Given the description of an element on the screen output the (x, y) to click on. 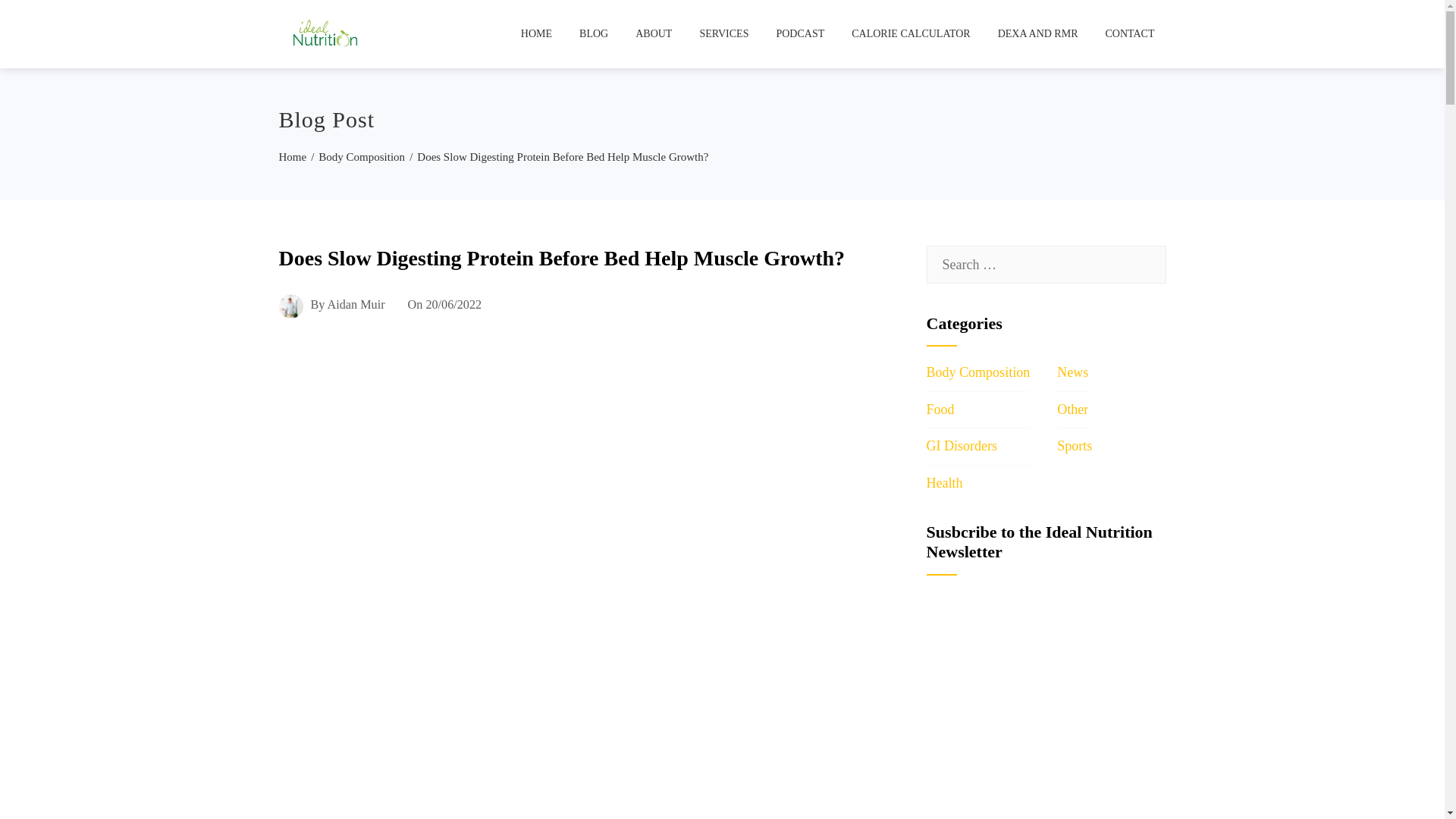
Home (293, 156)
HOME (536, 33)
ABOUT (653, 33)
CONTACT (1129, 33)
BLOG (593, 33)
SERVICES (723, 33)
PODCAST (799, 33)
DEXA AND RMR (1038, 33)
Body Composition (361, 156)
CALORIE CALCULATOR (910, 33)
